Given the description of an element on the screen output the (x, y) to click on. 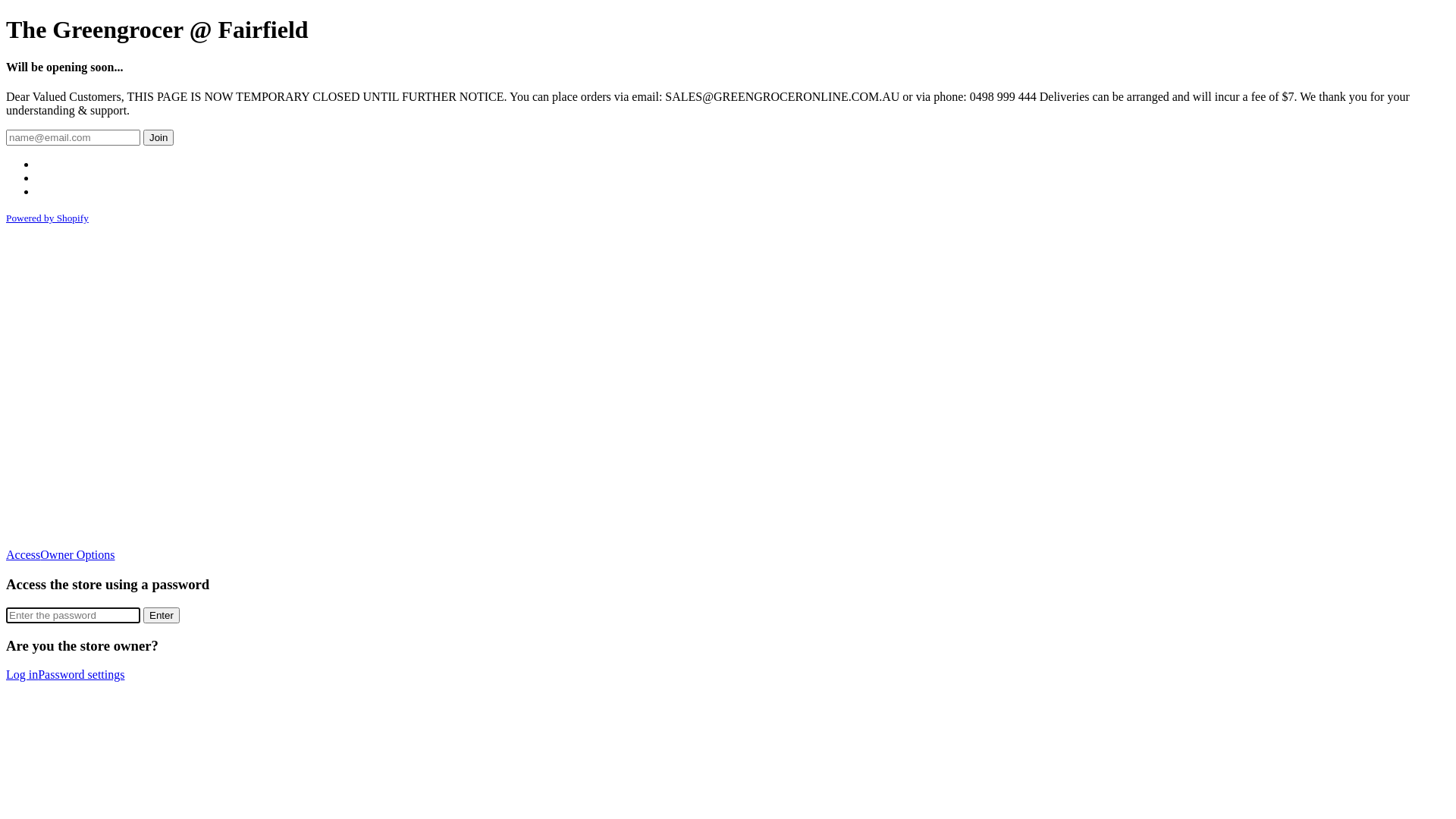
Access Element type: text (23, 554)
Password settings Element type: text (80, 674)
Powered by Shopify Element type: text (47, 217)
Enter Element type: text (161, 615)
Join Element type: text (158, 137)
Log in Element type: text (21, 674)
Owner Options Element type: text (77, 554)
